Given the description of an element on the screen output the (x, y) to click on. 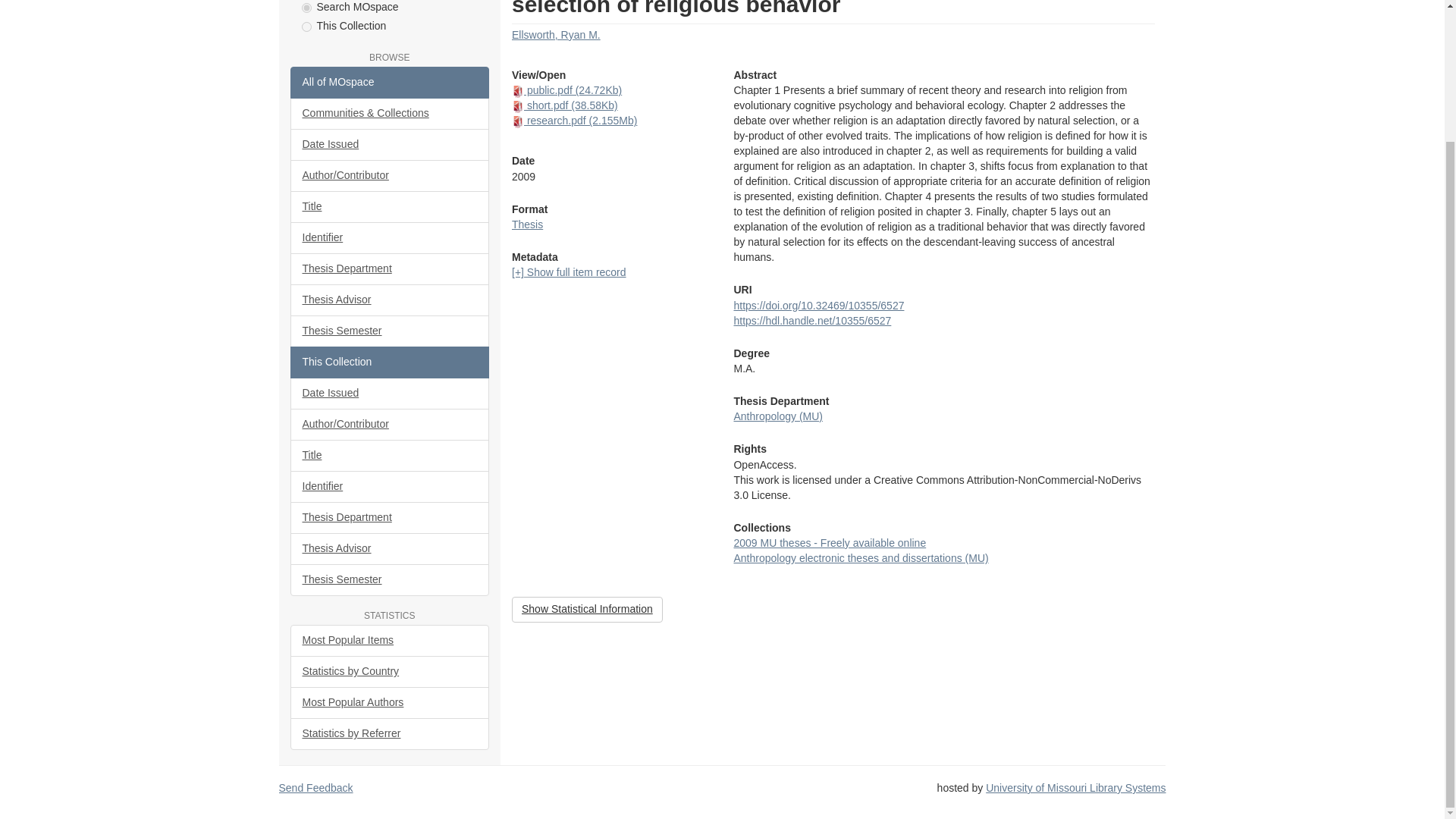
PDF file (518, 91)
Title (389, 206)
Identifier (389, 237)
Thesis Department (389, 269)
PDF file (518, 121)
Date Issued (389, 144)
PDF file (518, 106)
All of MOspace (389, 82)
Thesis Advisor (389, 300)
